Given the description of an element on the screen output the (x, y) to click on. 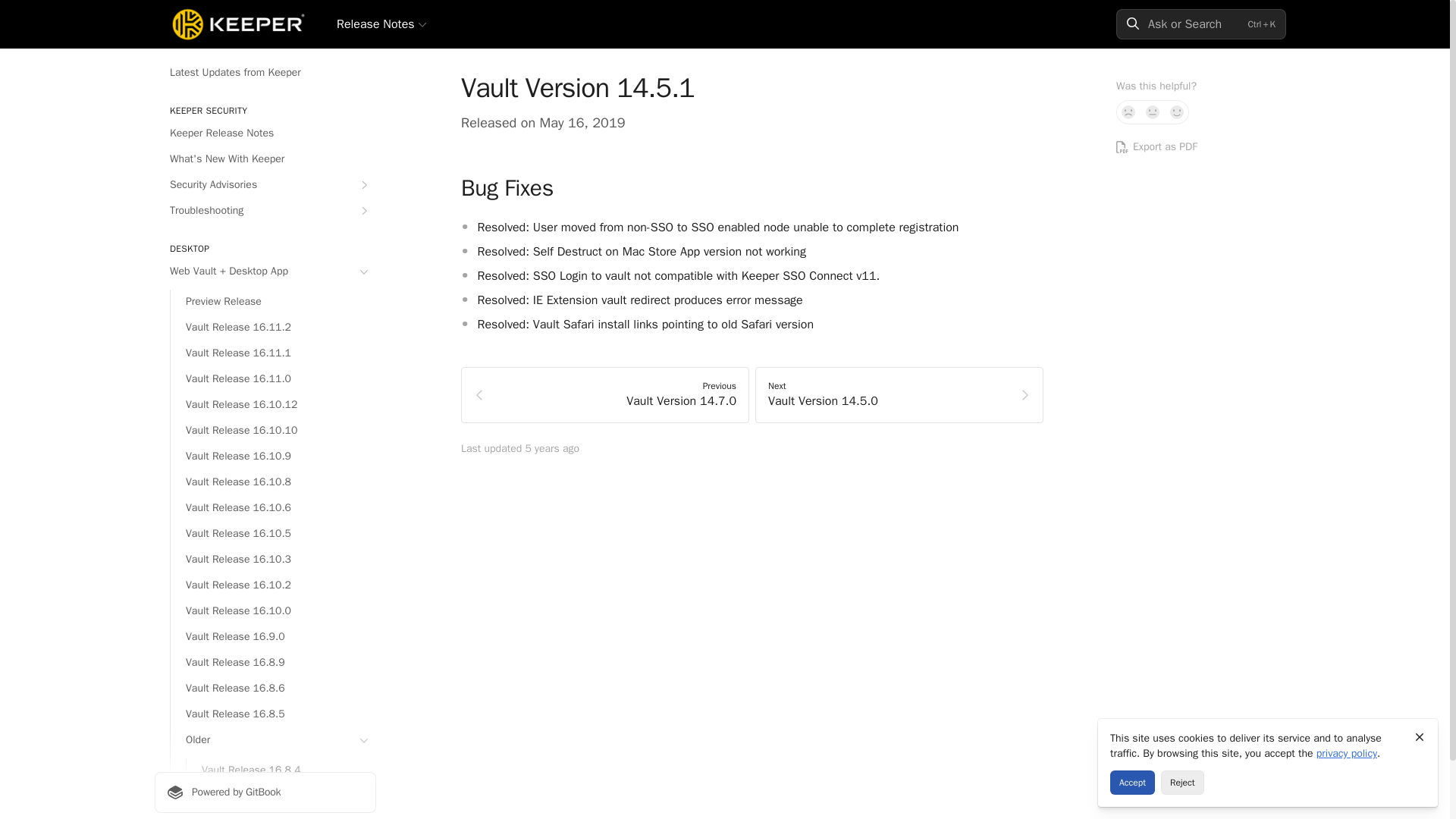
Vault Release 16.11.2 (272, 327)
Not sure (1152, 111)
Vault Release 16.11.1 (272, 353)
Vault Release 16.10.12 (272, 404)
Close (1419, 737)
Vault Release 16.10.10 (272, 430)
Vault Release 16.11.0 (272, 378)
Preview Release (272, 301)
Keeper Release Notes (264, 133)
Latest Updates from Keeper (264, 72)
